Given the description of an element on the screen output the (x, y) to click on. 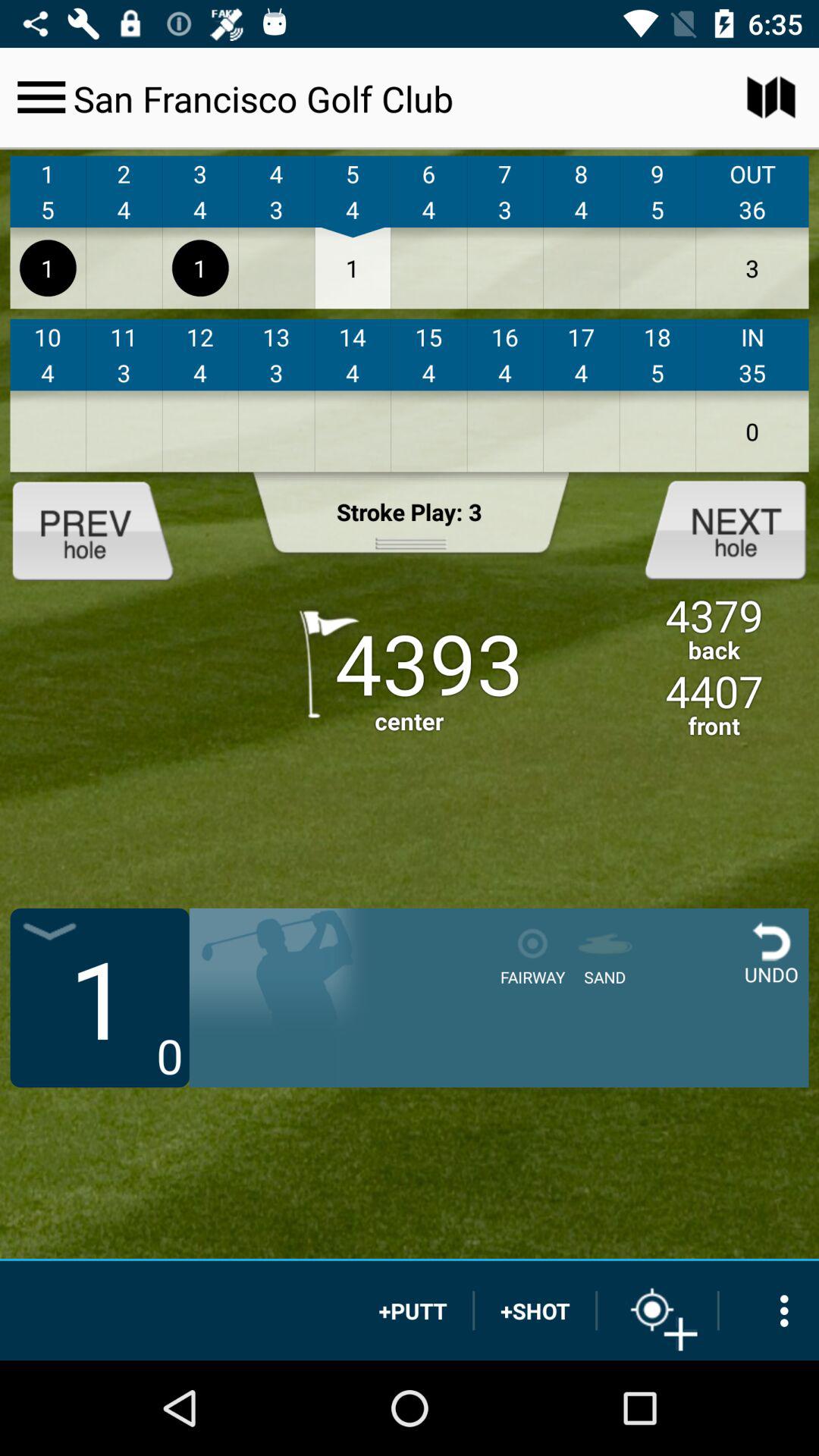
more options (769, 1310)
